Given the description of an element on the screen output the (x, y) to click on. 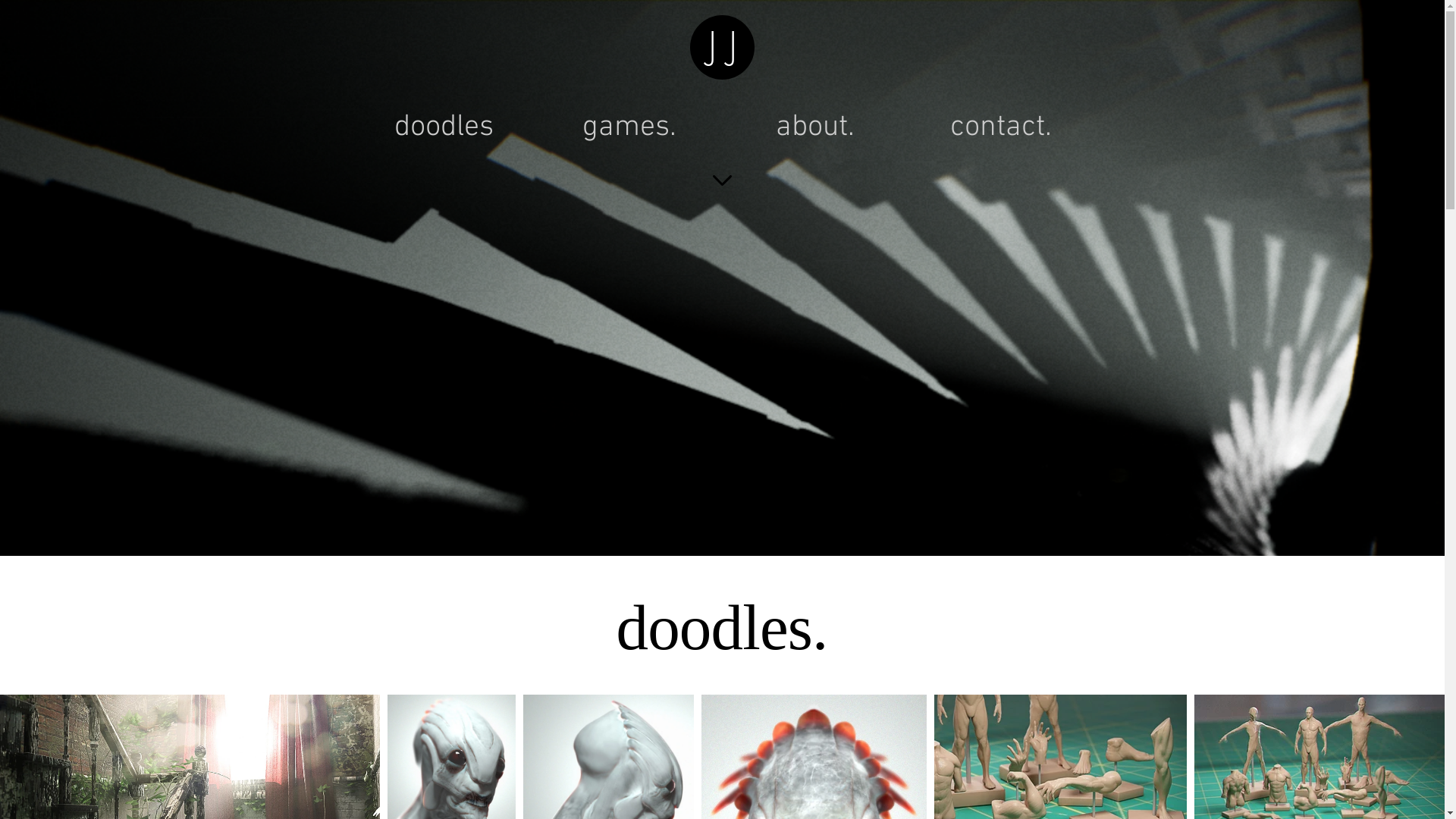
J J Element type: text (722, 46)
